Given the description of an element on the screen output the (x, y) to click on. 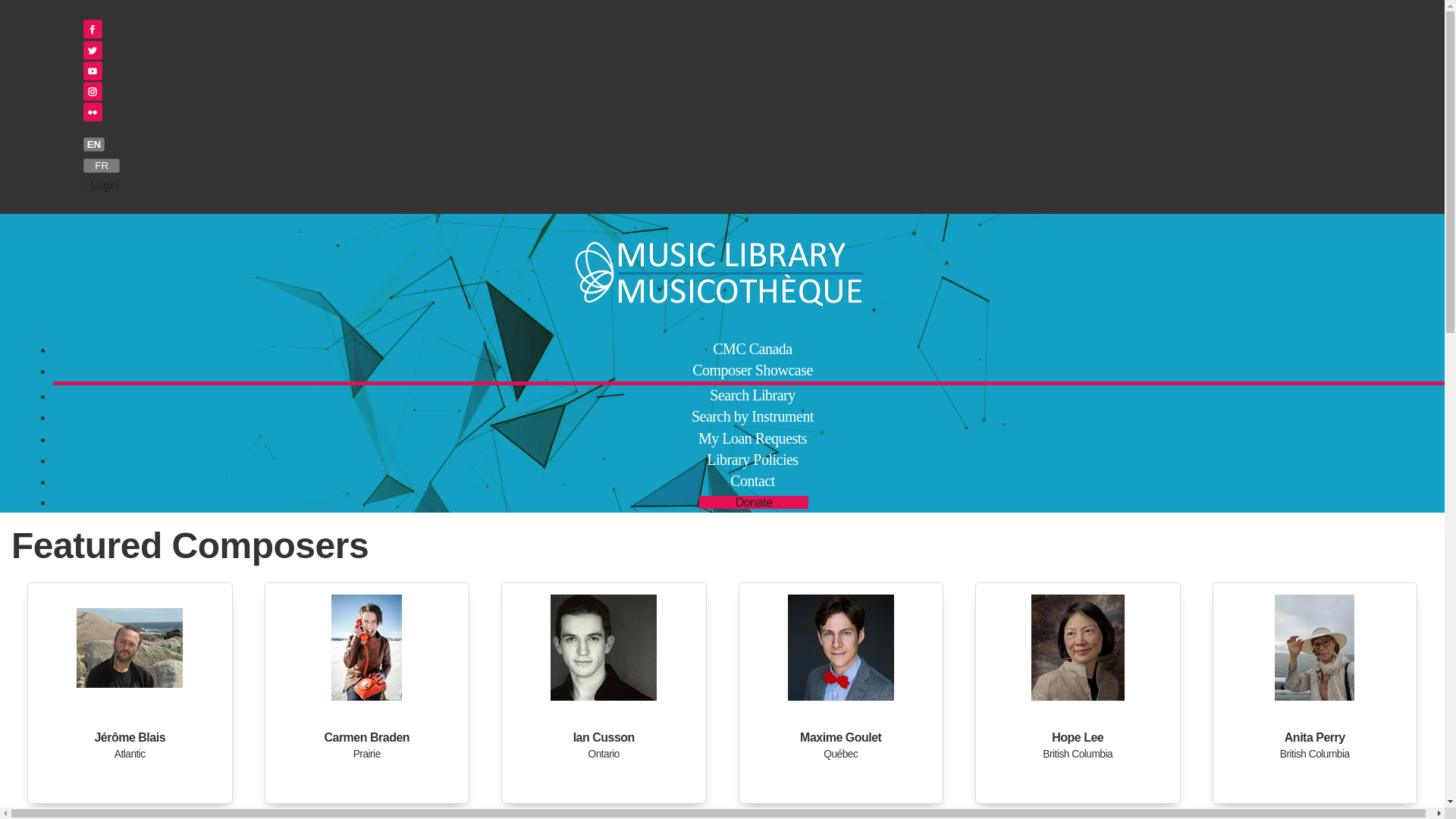
Login (99, 185)
Donate (753, 502)
Twitter (91, 49)
Composer Showcase (752, 369)
Contact (752, 480)
Search Library (752, 394)
My Loan Requests (752, 437)
FR (100, 165)
Flickr (91, 111)
Facebook (91, 28)
Instagram (91, 90)
CMC Canada (752, 348)
Search by Instrument (752, 416)
EN (93, 144)
Library Policies (751, 459)
